Given the description of an element on the screen output the (x, y) to click on. 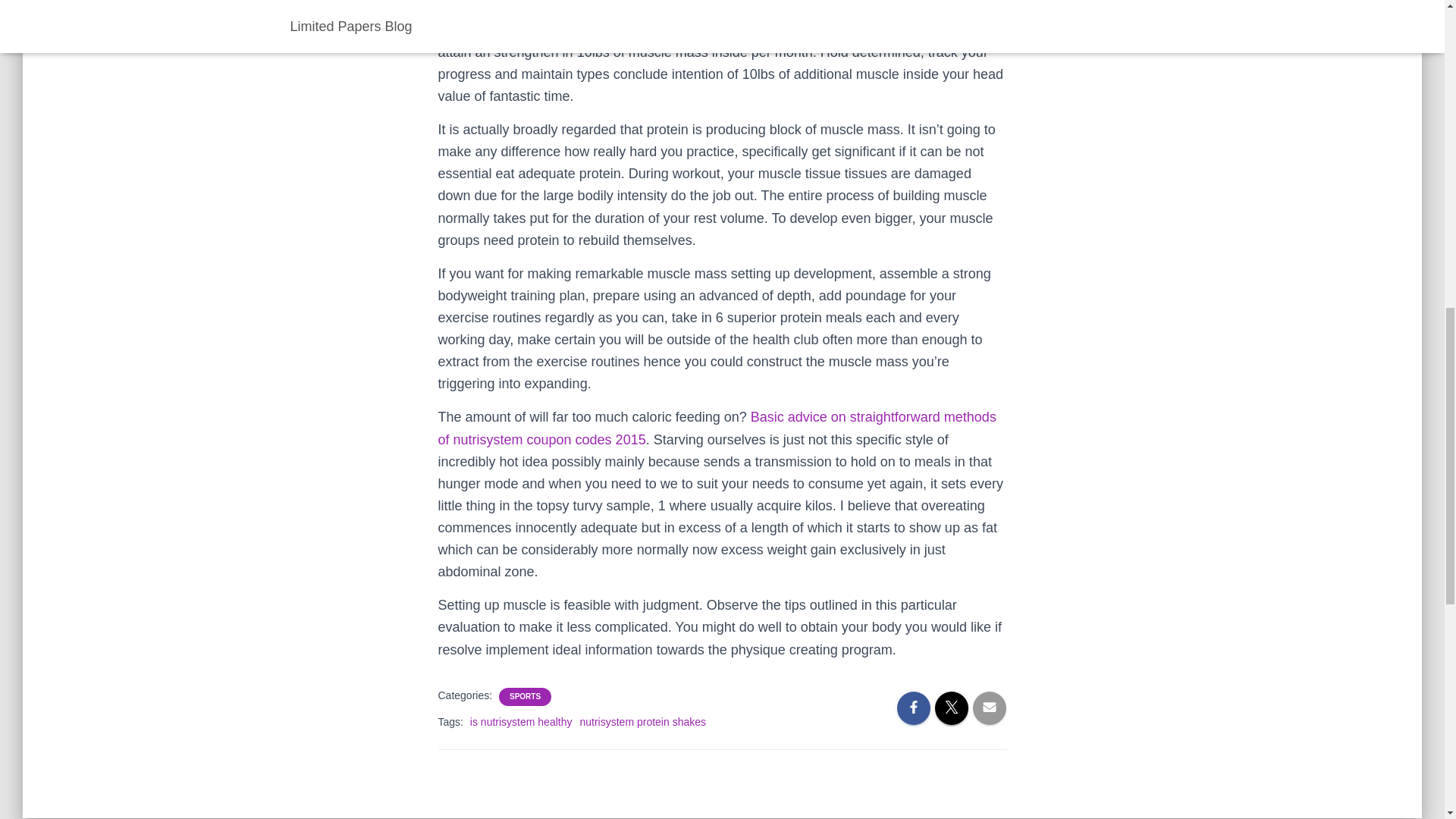
is nutrisystem healthy (521, 721)
SPORTS (524, 696)
nutrisystem protein shakes (642, 721)
